Given the description of an element on the screen output the (x, y) to click on. 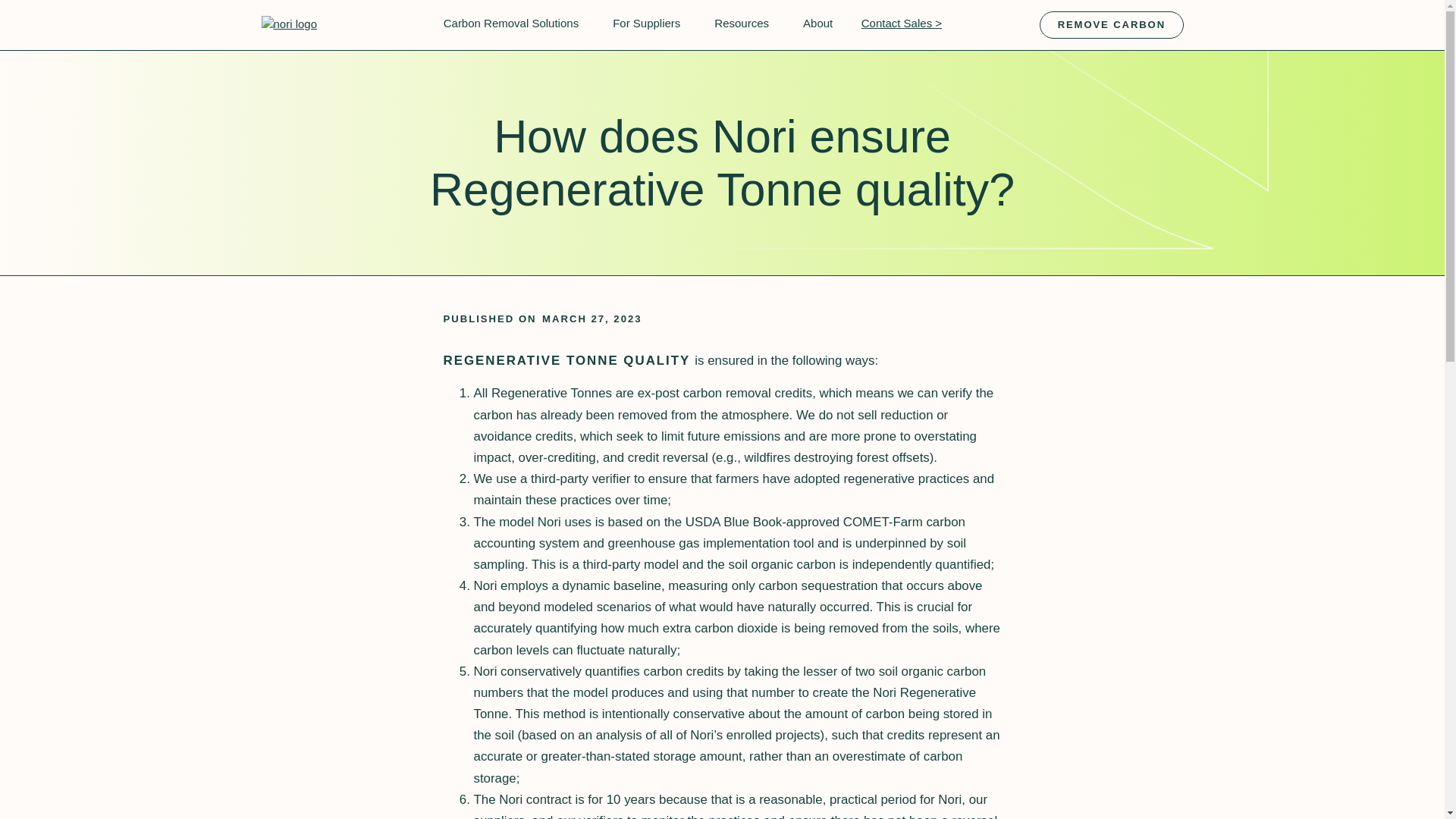
REMOVE CARBON (1110, 24)
